Given the description of an element on the screen output the (x, y) to click on. 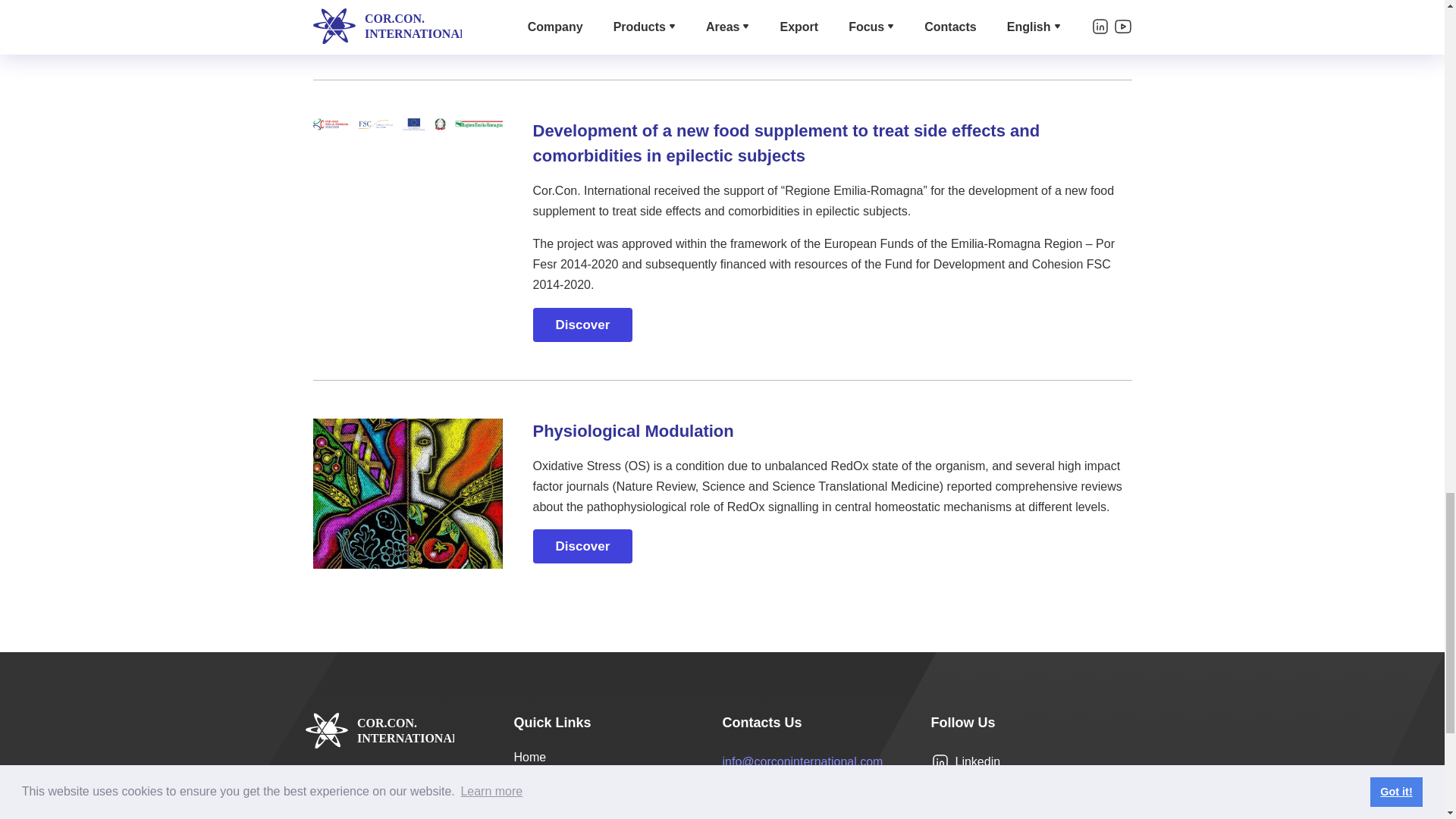
COR.CON. INTERNATIONAL (378, 730)
YouTube (967, 787)
